Given the description of an element on the screen output the (x, y) to click on. 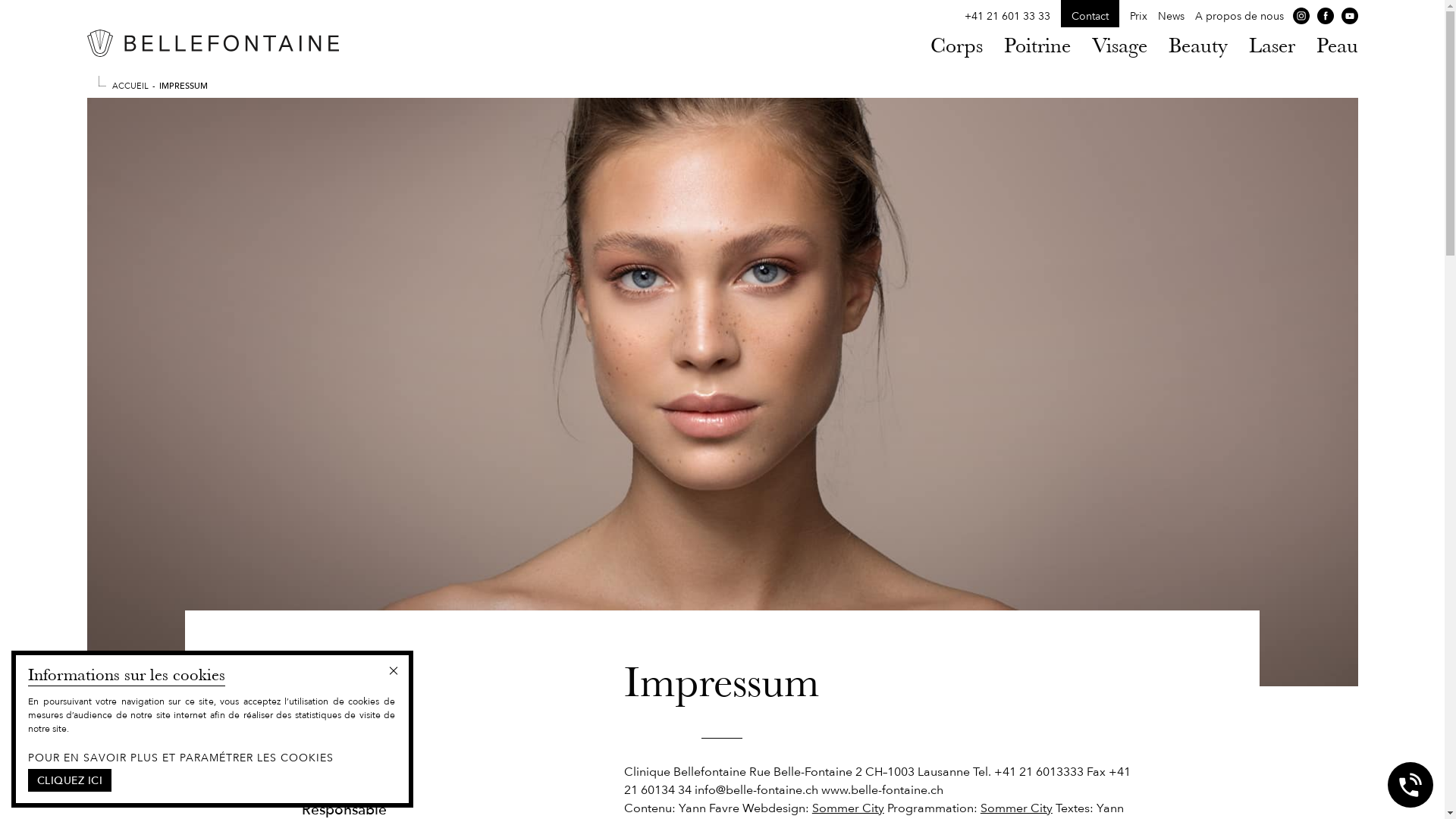
Sommer City Element type: text (1016, 807)
Contact Element type: text (1088, 16)
Sommer City Element type: text (848, 807)
Poitrine Element type: text (1037, 45)
Laser Element type: text (1271, 45)
Beauty Element type: text (1196, 45)
Visage Element type: text (1119, 45)
CLIQUEZ ICI Element type: text (69, 779)
+41 21 601 33 33 Element type: text (1007, 16)
Peau Element type: text (1337, 45)
News Element type: text (1170, 16)
Corps Element type: text (955, 45)
A propos de nous Element type: text (1239, 16)
Prix Element type: text (1138, 16)
ACCUEIL Element type: text (130, 84)
